Given the description of an element on the screen output the (x, y) to click on. 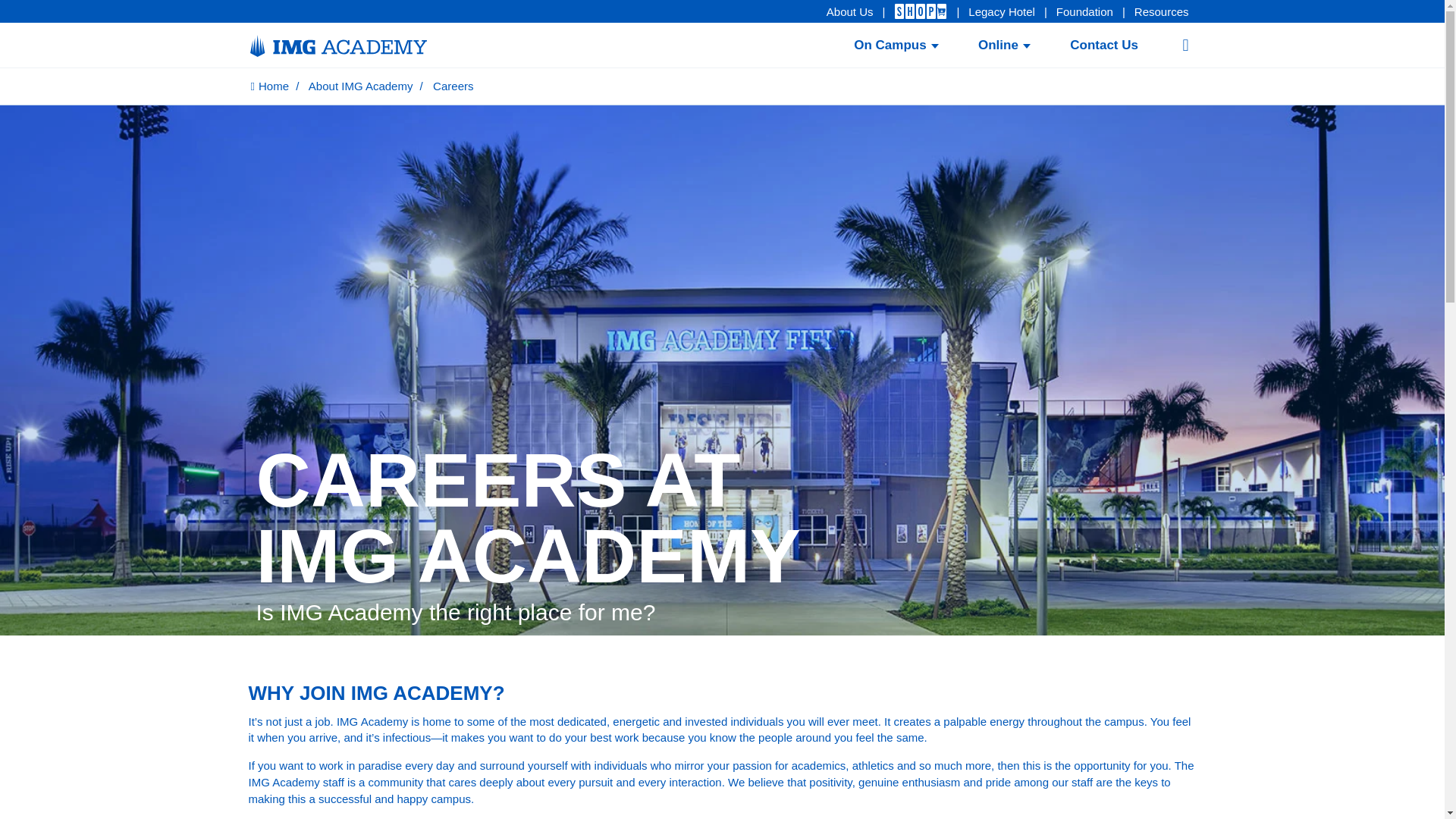
Shop (920, 18)
Learn more about IMG Academy (849, 11)
Resources for parents and students at IMG Academy (1161, 11)
About Us (849, 11)
Give back through the foundation at IMG Academy (1084, 11)
Legacy Hotel (1001, 11)
Stay at Legacy Hotel at IMG Academy (1001, 11)
Foundation (1084, 11)
Resources (1161, 11)
Img academy (360, 44)
